Given the description of an element on the screen output the (x, y) to click on. 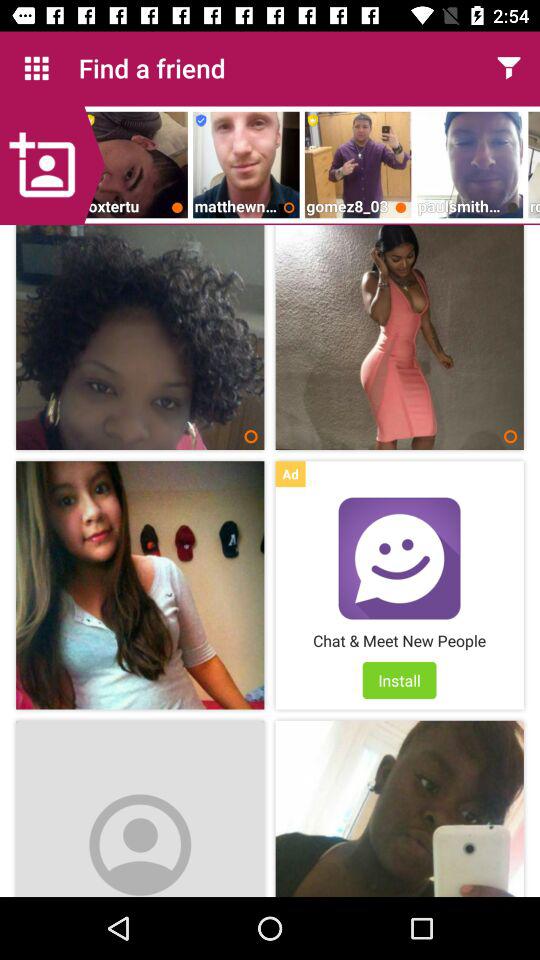
upload image (52, 165)
